Given the description of an element on the screen output the (x, y) to click on. 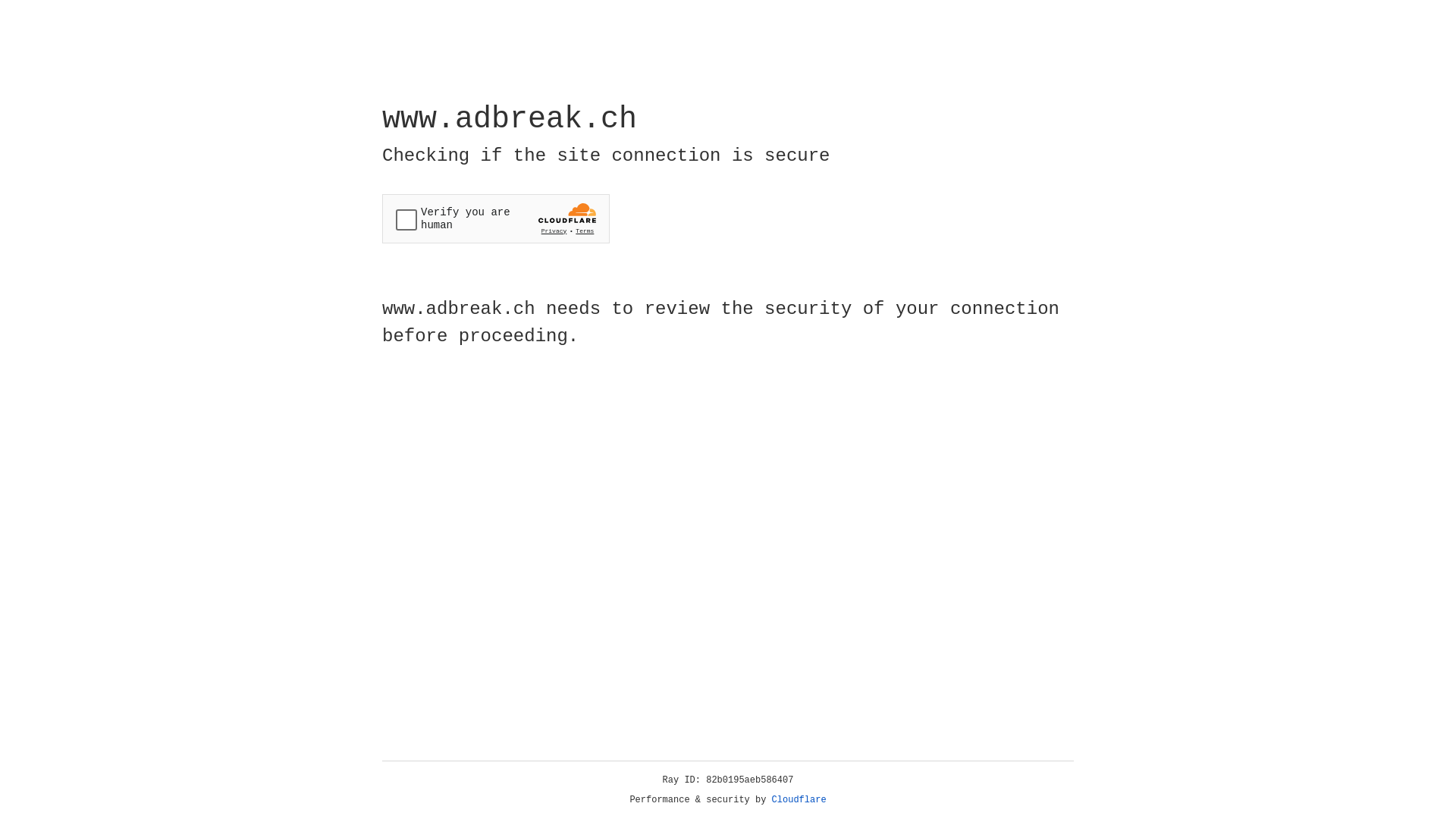
Cloudflare Element type: text (798, 799)
Widget containing a Cloudflare security challenge Element type: hover (495, 218)
